Given the description of an element on the screen output the (x, y) to click on. 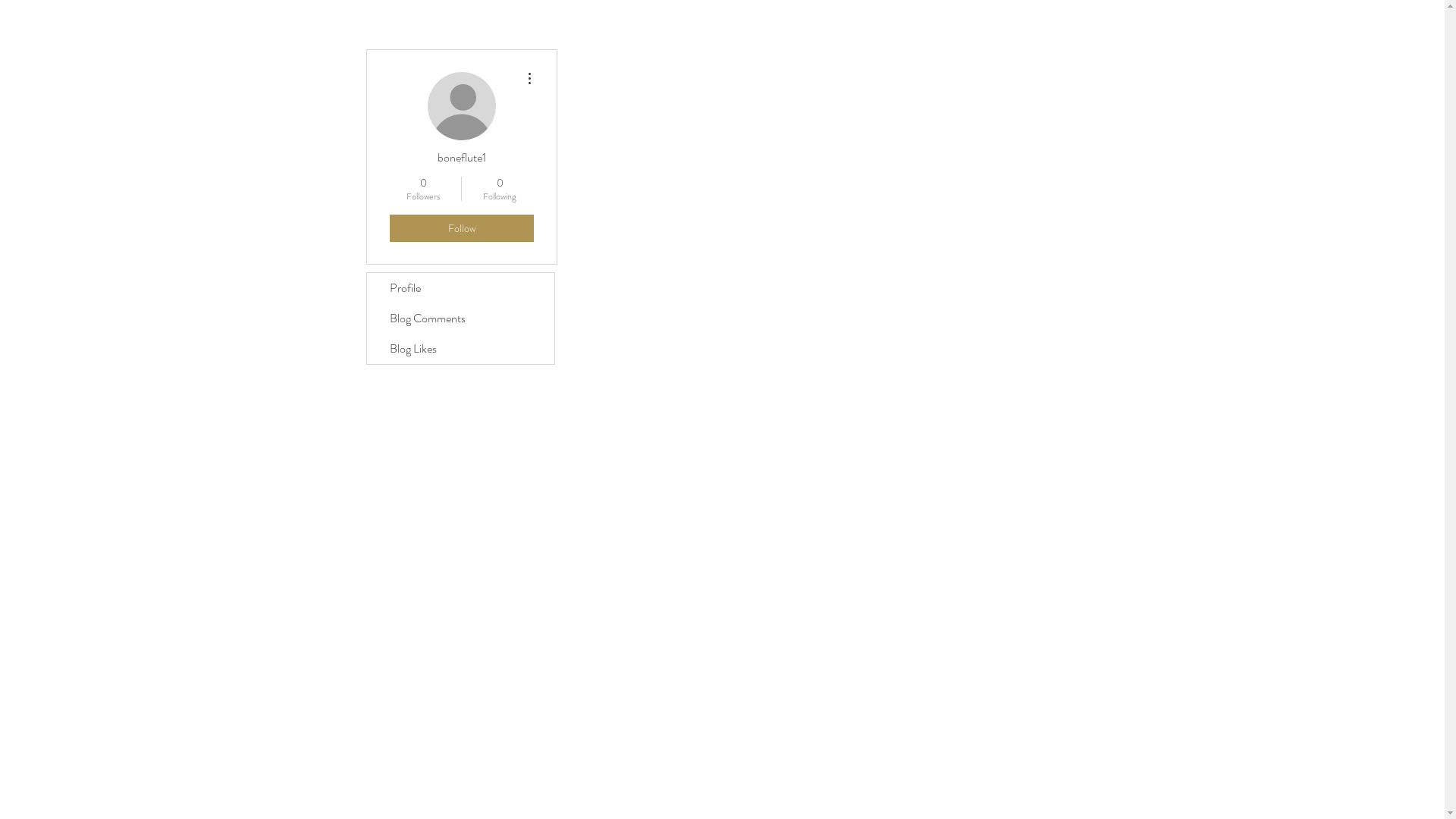
0
Followers Element type: text (423, 188)
Blog Likes Element type: text (460, 348)
Blog Comments Element type: text (460, 318)
0
Following Element type: text (499, 188)
Profile Element type: text (460, 288)
Follow Element type: text (461, 227)
